Given the description of an element on the screen output the (x, y) to click on. 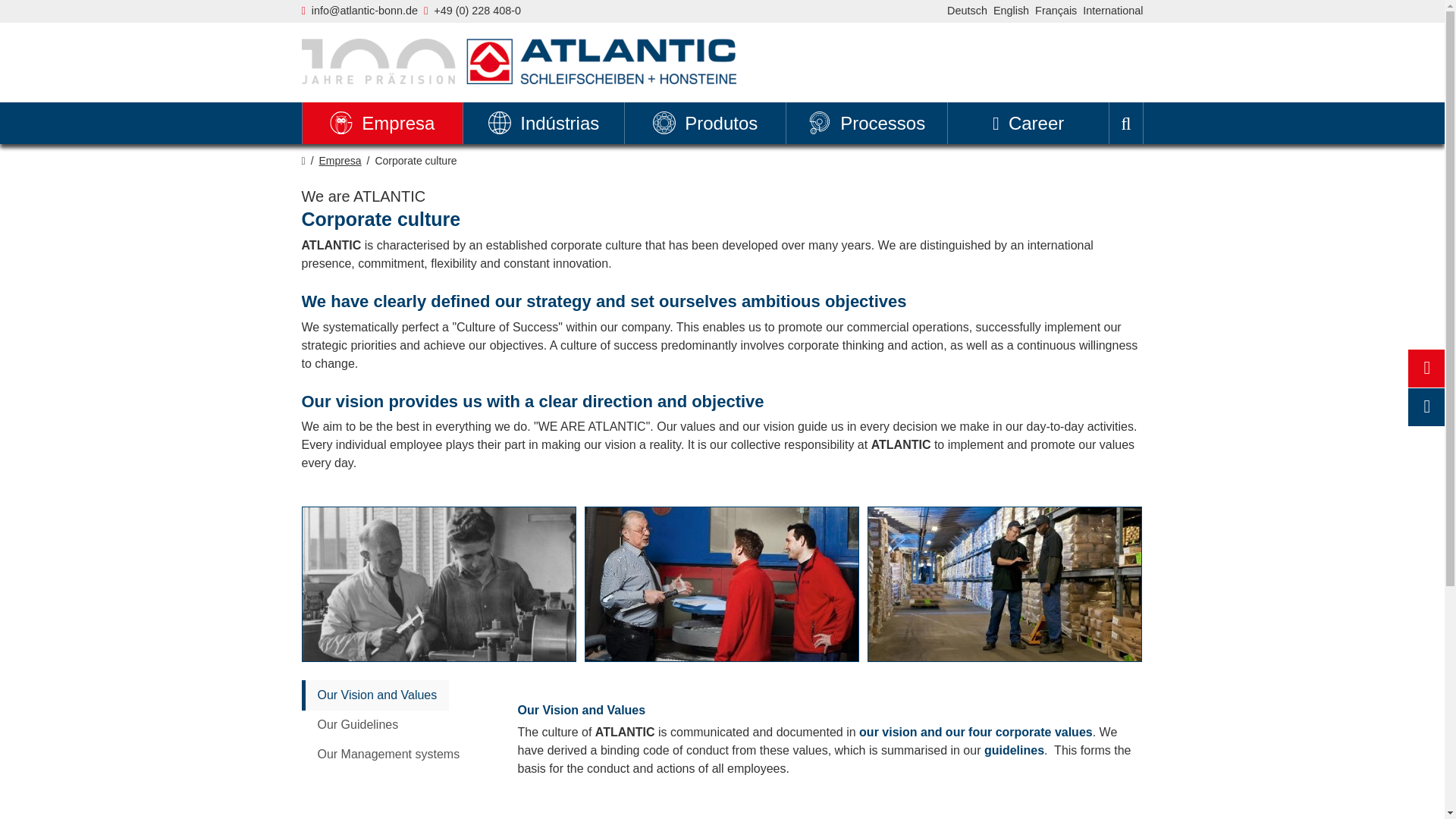
ATLANTIC GmbH (518, 61)
Empresa (382, 123)
infoatlantic-bonnde (364, 11)
Empresa (382, 123)
Deutsch (967, 11)
English (1010, 11)
